Given the description of an element on the screen output the (x, y) to click on. 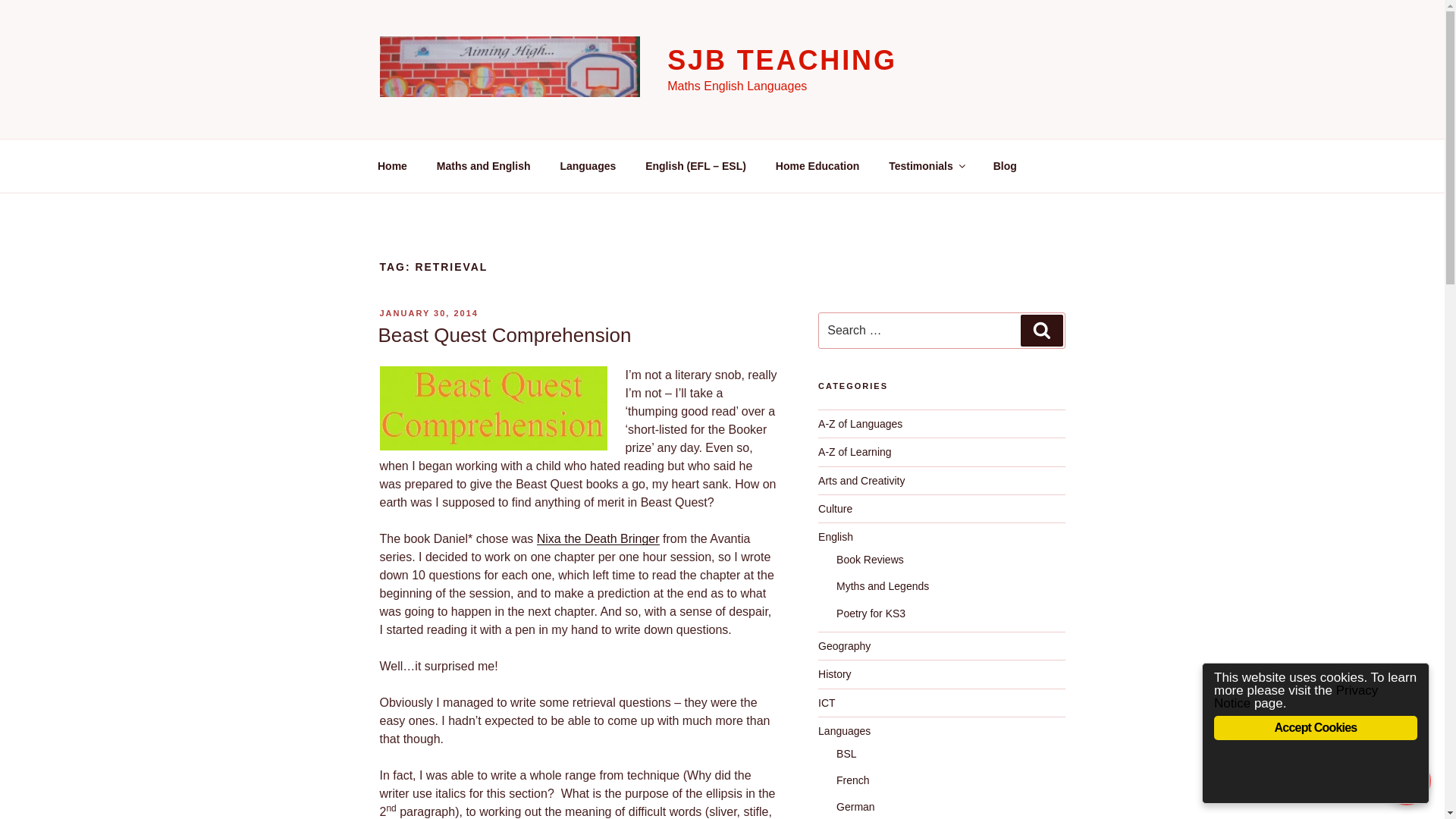
Languages (844, 730)
Maths and English (483, 165)
A-Z of Learning (854, 451)
History (834, 674)
Poetry for KS3 (870, 613)
A-Z of Languages (860, 423)
BSL (845, 753)
Myths and Legends (881, 585)
German (855, 806)
Blog (1004, 165)
Languages (587, 165)
Home (392, 165)
English (835, 536)
Geography (844, 645)
Search (1041, 330)
